Given the description of an element on the screen output the (x, y) to click on. 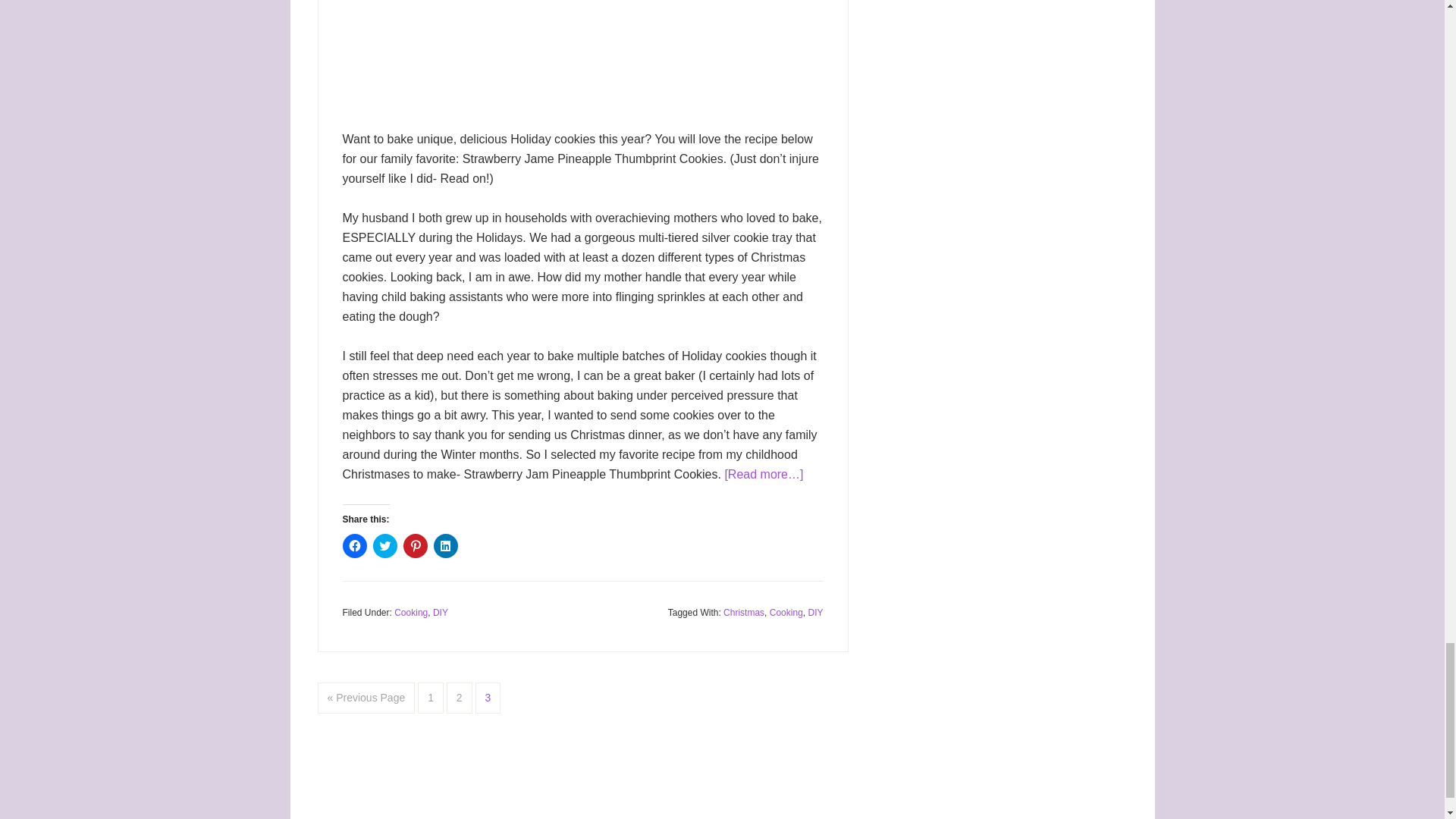
Click to share on Pinterest (415, 545)
Click to share on Facebook (354, 545)
Click to share on Twitter (384, 545)
Click to share on LinkedIn (445, 545)
